Given the description of an element on the screen output the (x, y) to click on. 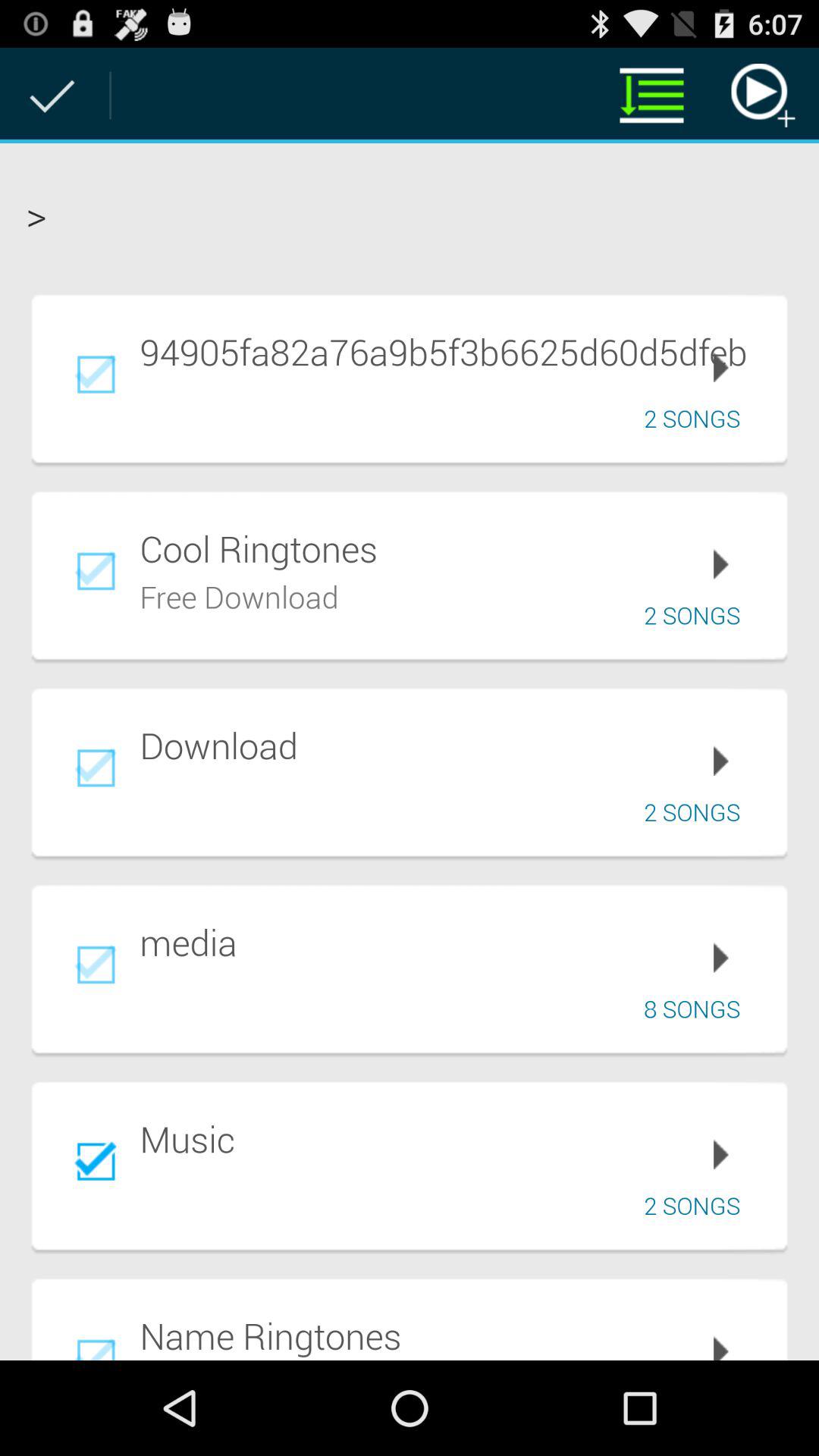
turn on the music icon (452, 1138)
